Given the description of an element on the screen output the (x, y) to click on. 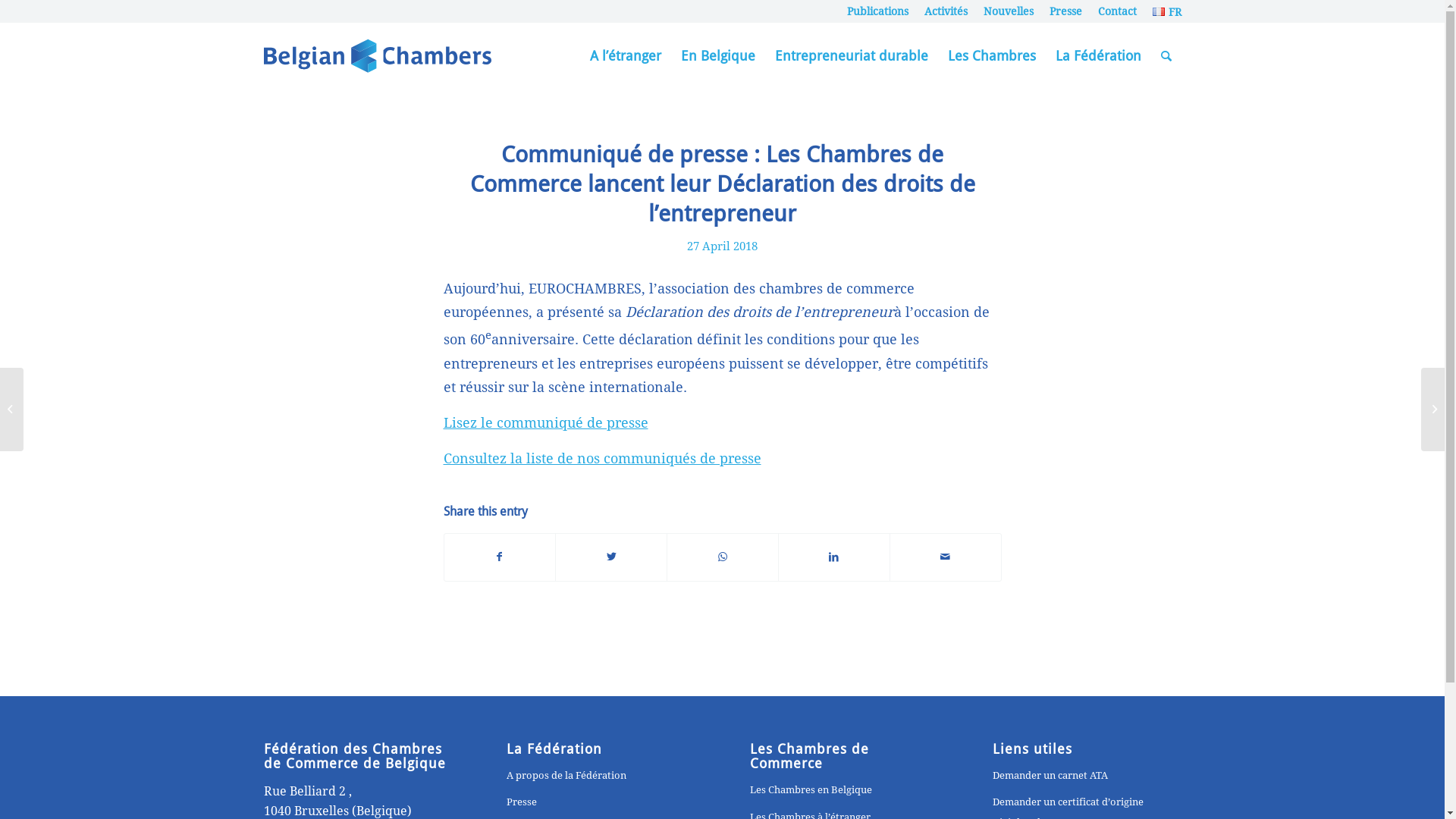
Les Chambres Element type: text (990, 55)
En Belgique Element type: text (717, 55)
Presse Element type: text (600, 802)
Publications Element type: text (877, 11)
Presse Element type: text (1065, 11)
FR Element type: text (1166, 11)
Les Chambres en Belgique Element type: text (843, 790)
Contact Element type: text (1117, 11)
Demander un carnet ATA Element type: text (1086, 775)
Nouvelles Element type: text (1008, 11)
Entrepreneuriat durable Element type: text (850, 55)
